Given the description of an element on the screen output the (x, y) to click on. 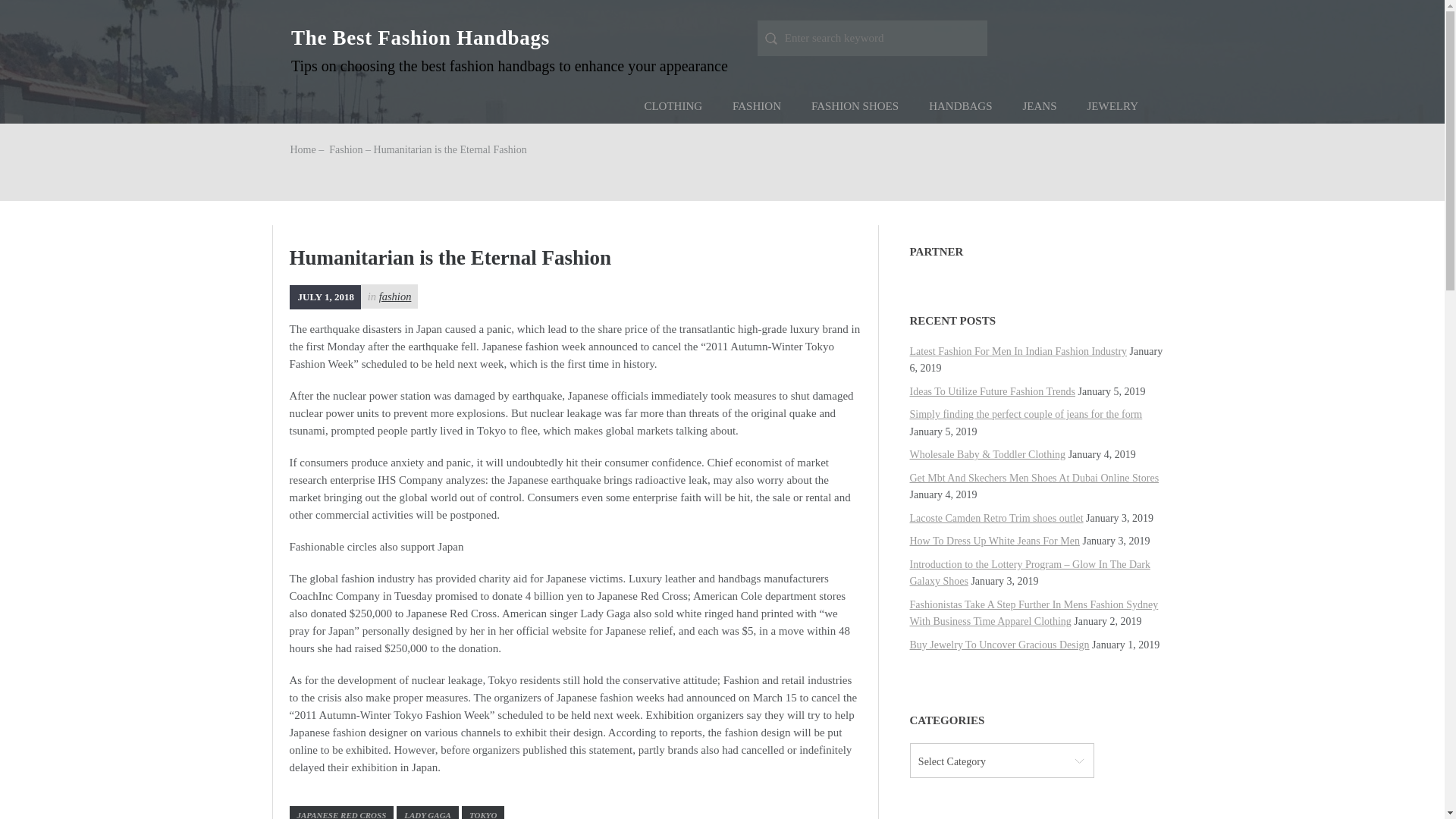
FASHION SHOES (855, 106)
JAPANESE RED CROSS (341, 812)
The Best Fashion Handbags (420, 37)
TOKYO (482, 812)
Lacoste Camden Retro Trim shoes outlet (996, 518)
FASHION (756, 106)
fashion (395, 296)
Simply finding the perfect couple of jeans for the form (1026, 414)
Ideas To Utilize Future Fashion Trends (992, 391)
JULY 1, 2018 (325, 296)
HANDBAGS (960, 106)
Latest Fashion For Men In Indian Fashion Industry (1018, 351)
Get Mbt And Skechers Men Shoes At Dubai Online Stores (1034, 478)
CLOTHING (672, 106)
